Given the description of an element on the screen output the (x, y) to click on. 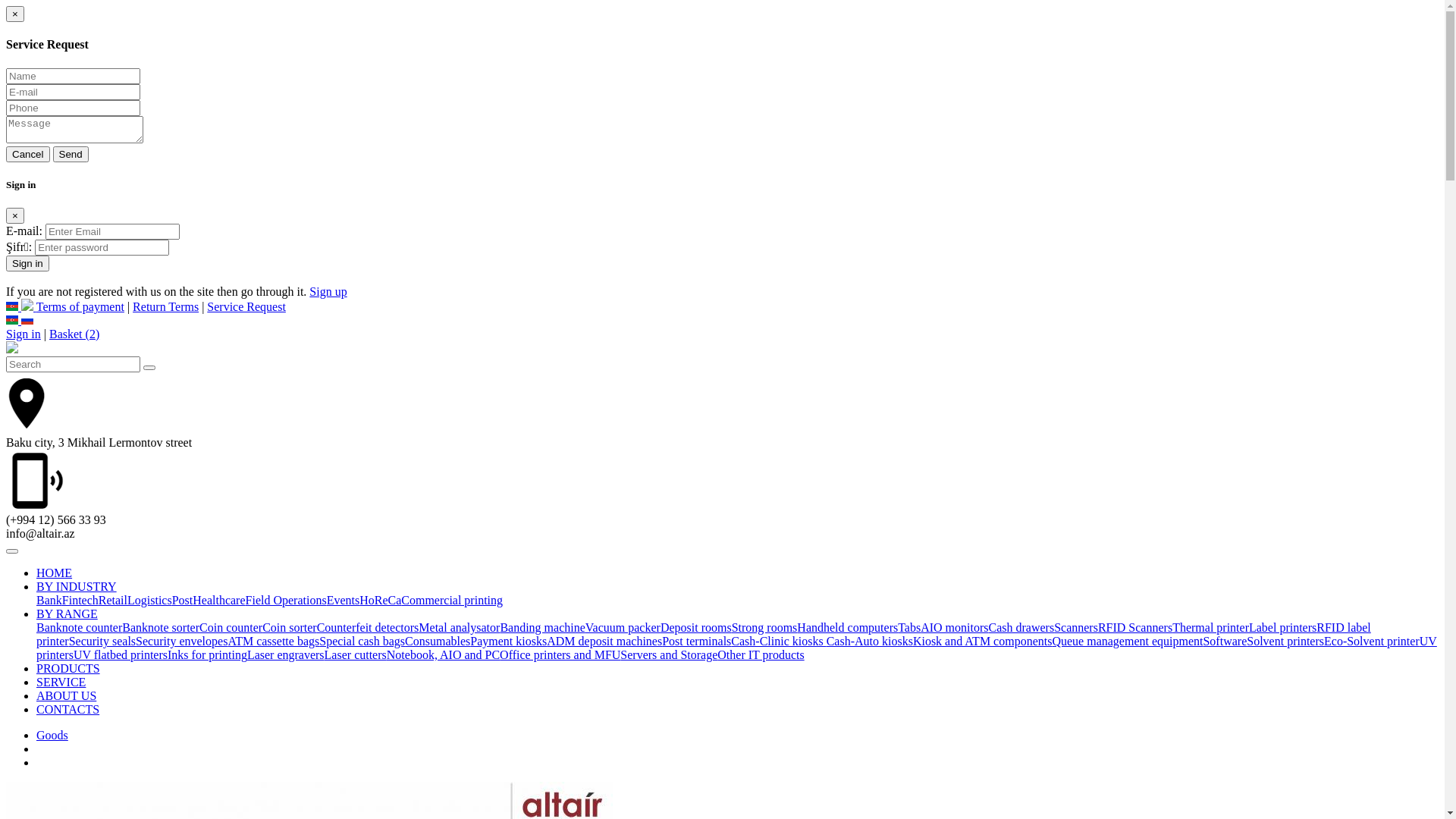
Thermal printer Element type: text (1210, 627)
Scanners Element type: text (1076, 627)
Laser engravers Element type: text (285, 654)
Cash-Clinic kiosks Element type: text (778, 640)
Return Terms Element type: text (165, 306)
AIO monitors Element type: text (954, 627)
Laser cutters Element type: text (355, 654)
Coin sorter Element type: text (289, 627)
Healthcare Element type: text (218, 599)
Basket (2) Element type: text (74, 333)
Metal analysator Element type: text (458, 627)
Special cash bags Element type: text (361, 640)
ADM deposit machines Element type: text (604, 640)
PRODUCTS Element type: text (68, 668)
Strong rooms Element type: text (764, 627)
Sign up Element type: text (327, 291)
UV flatbed printers Element type: text (120, 654)
Security seals Element type: text (102, 640)
Deposit rooms Element type: text (695, 627)
Goods Element type: text (52, 734)
Security envelopes Element type: text (181, 640)
Notebook, AIO and PC Element type: text (442, 654)
Logistics Element type: text (149, 599)
Servers and Storage Element type: text (668, 654)
Counterfeit detectors Element type: text (367, 627)
Vacuum packer Element type: text (622, 627)
Service Request Element type: text (246, 306)
ATM cassette bags Element type: text (273, 640)
HOME Element type: text (54, 572)
Post Element type: text (182, 599)
Cash drawers Element type: text (1021, 627)
Bank Element type: text (49, 599)
Office printers and MFU Element type: text (559, 654)
Other IT products Element type: text (760, 654)
Fintech Element type: text (80, 599)
BY INDUSTRY Element type: text (76, 586)
RFID label printer Element type: text (703, 634)
Sign in Element type: text (23, 333)
Eco-Solvent printer Element type: text (1371, 640)
Cash-Auto kiosks Element type: text (869, 640)
Queue management equipment Element type: text (1126, 640)
BY RANGE Element type: text (66, 613)
Kiosk and ATM components Element type: text (982, 640)
Banding machine Element type: text (541, 627)
Label printers Element type: text (1282, 627)
Handheld computers Element type: text (847, 627)
Coin counter Element type: text (230, 627)
RFID Scanners Element type: text (1135, 627)
Software Element type: text (1224, 640)
Banknote counter Element type: text (79, 627)
SERVICE Element type: text (60, 681)
CONTACTS Element type: text (67, 708)
Consumables Element type: text (437, 640)
Cancel Element type: text (28, 154)
HoReCa Element type: text (380, 599)
Field Operations Element type: text (285, 599)
Commercial printing Element type: text (451, 599)
Retail Element type: text (112, 599)
Tabs Element type: text (908, 627)
ABOUT US Element type: text (66, 695)
Events Element type: text (343, 599)
Banknote sorter Element type: text (160, 627)
Send Element type: text (70, 154)
UV printers Element type: text (736, 647)
Inks for printing Element type: text (207, 654)
Solvent printers Element type: text (1285, 640)
Payment kiosks Element type: text (508, 640)
Sign in Element type: text (27, 263)
Terms of payment Element type: text (80, 306)
Post terminals Element type: text (696, 640)
